Given the description of an element on the screen output the (x, y) to click on. 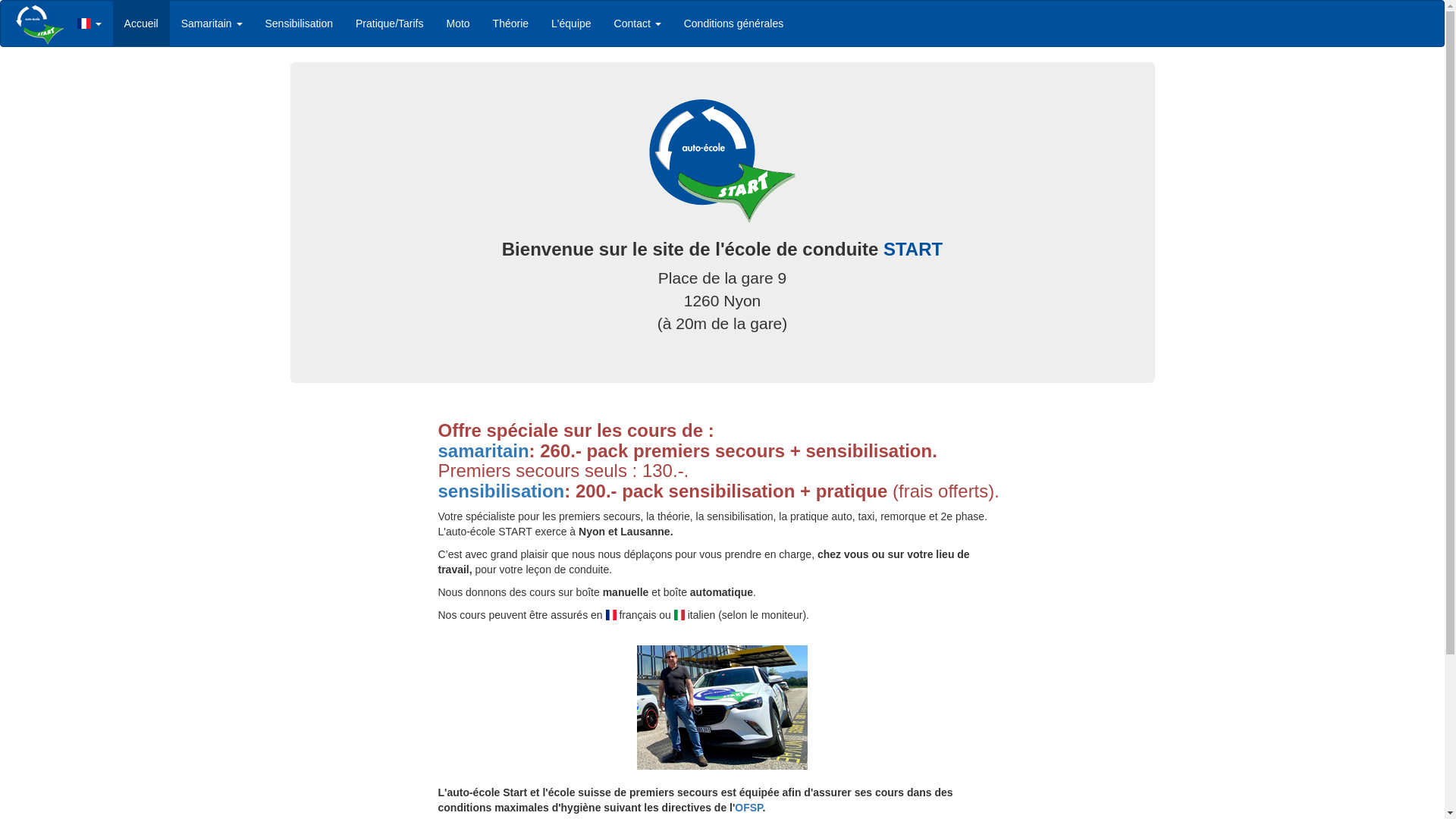
sensibilisation Element type: text (501, 490)
Accueil Element type: text (140, 23)
Moto Element type: text (457, 23)
Moniteurs Element type: hover (722, 707)
OFSP Element type: text (748, 807)
Sensibilisation Element type: text (298, 23)
Contact Element type: text (637, 23)
samaritain Element type: text (483, 450)
Samaritain Element type: text (211, 23)
Pratique/Tarifs Element type: text (389, 23)
